Given the description of an element on the screen output the (x, y) to click on. 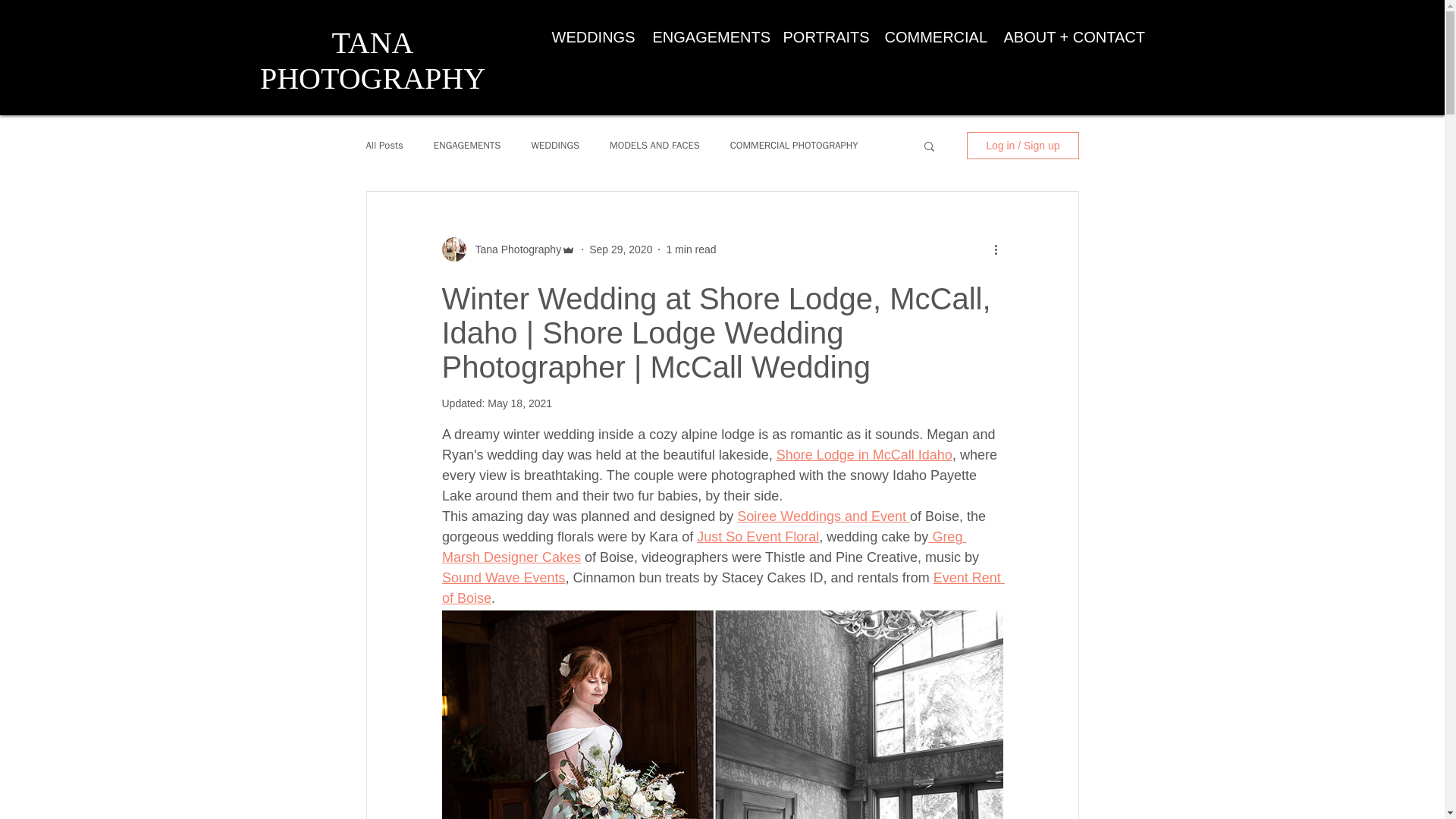
 Greg Marsh Designer Cakes (703, 547)
Soiree Weddings and Event  (823, 516)
TANA PHOTOGRAPHY (372, 60)
ENGAGEMENTS (466, 145)
May 18, 2021 (519, 403)
All Posts (384, 145)
COMMERCIAL (932, 36)
1 min read (690, 248)
PORTRAITS (821, 36)
COMMERCIAL PHOTOGRAPHY (794, 145)
